Given the description of an element on the screen output the (x, y) to click on. 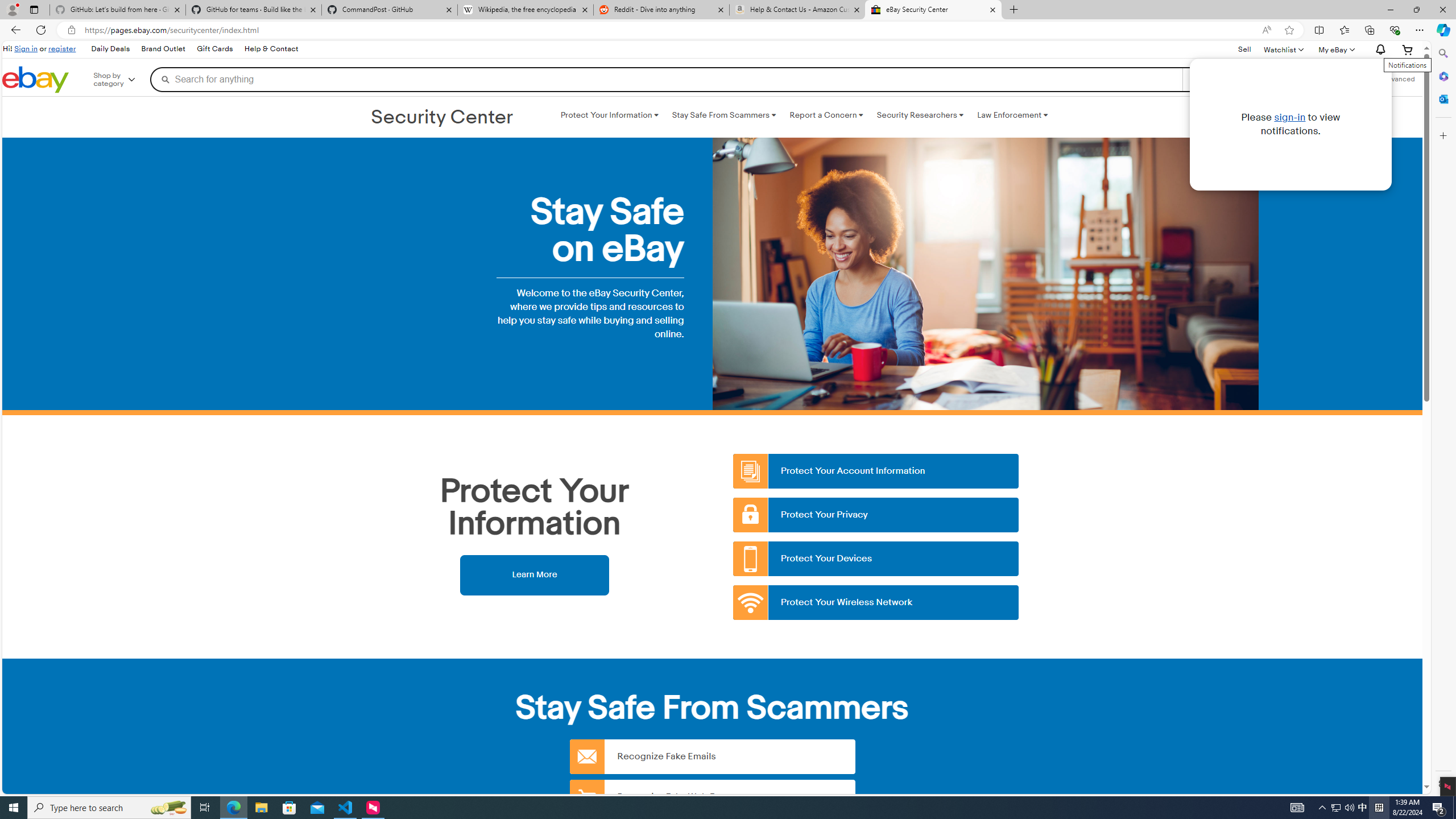
Notifications (1377, 49)
Brand Outlet (162, 49)
